Given the description of an element on the screen output the (x, y) to click on. 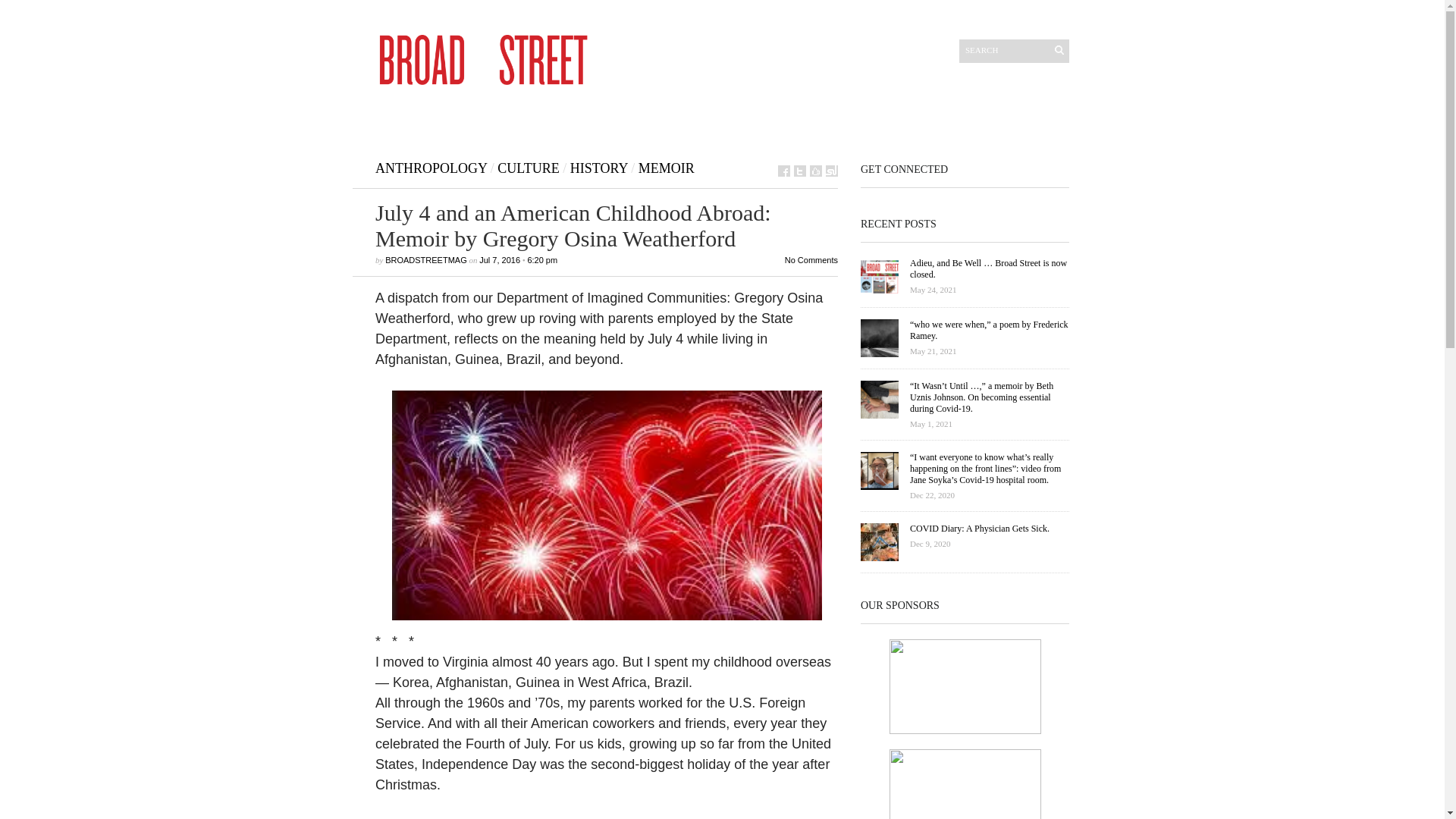
Bookmark on Del.icio.us (815, 170)
Share on StumbleUpon (831, 170)
No Comments (811, 259)
ANTHROPOLOGY (430, 168)
BROADSTREETMAG (426, 259)
Spread the word on Twitter (799, 170)
Share on Facebook (783, 170)
MEMOIR (666, 168)
Search (1005, 49)
Posts by broadstreetmag (426, 259)
